Given the description of an element on the screen output the (x, y) to click on. 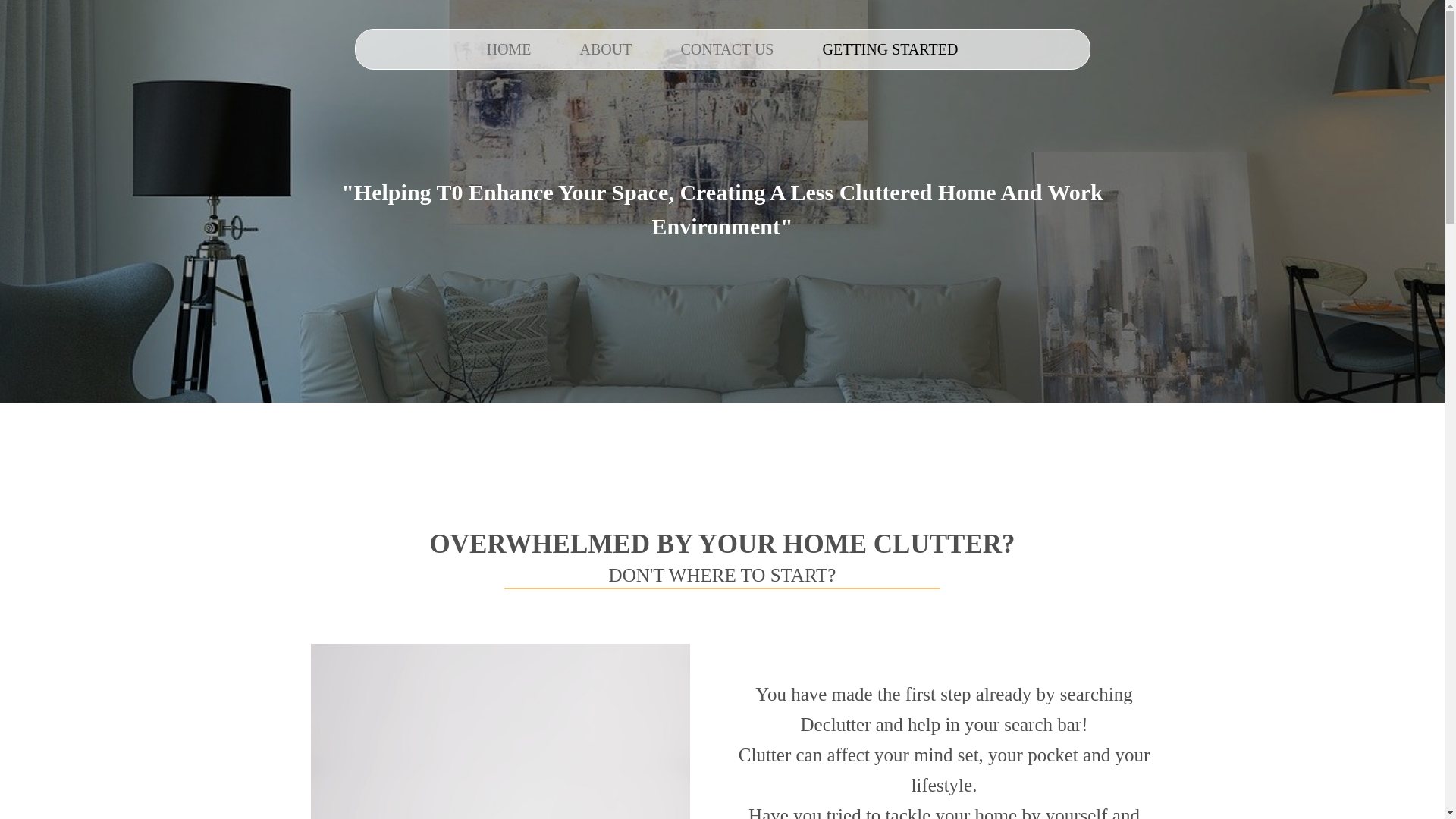
GETTING STARTED (889, 48)
ABOUT (606, 48)
clutter1 (500, 731)
CONTACT US (727, 48)
HOME (509, 48)
